Given the description of an element on the screen output the (x, y) to click on. 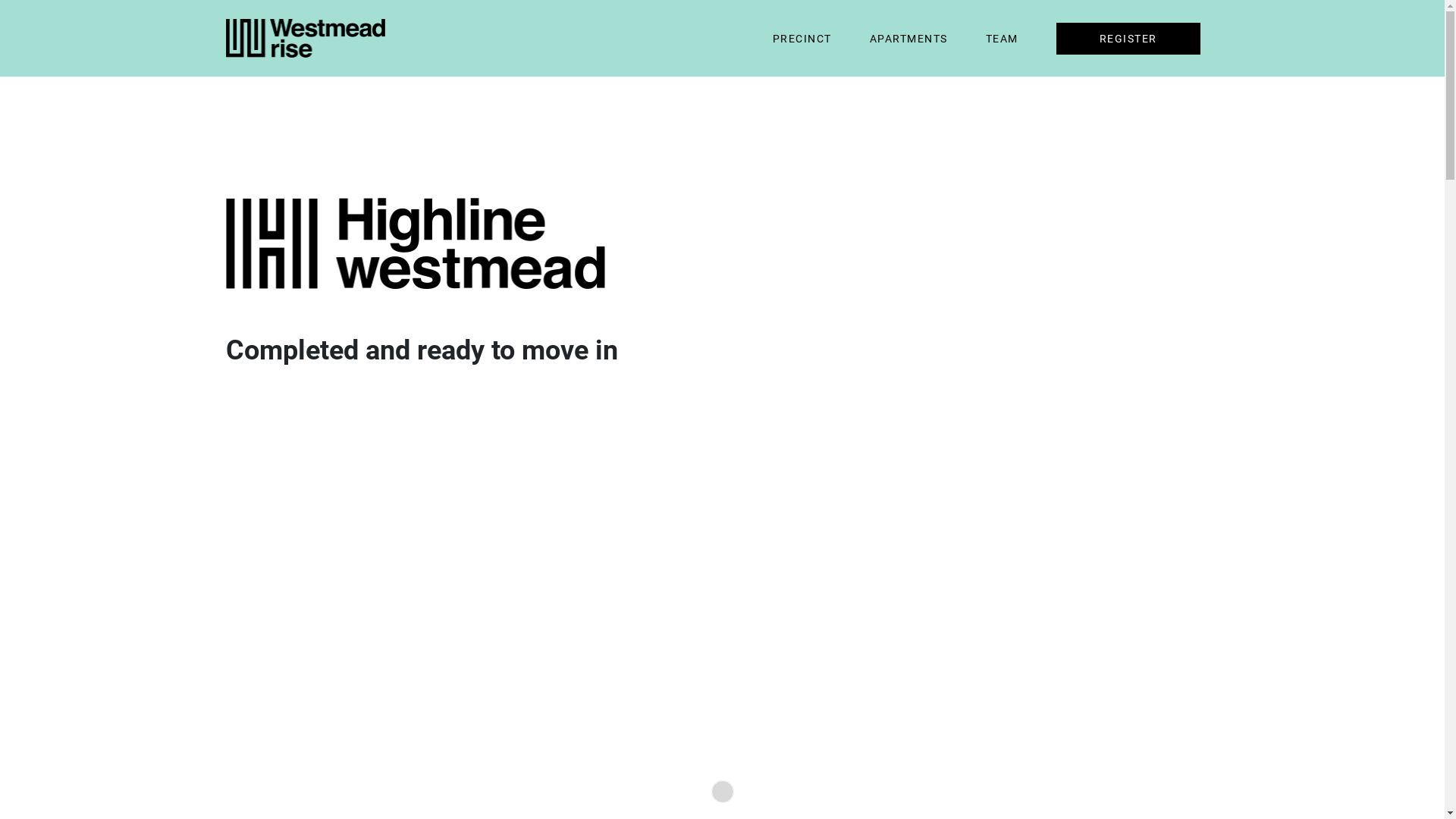
PRECINCT Element type: text (801, 38)
REGISTER Element type: text (1127, 38)
APARTMENTS Element type: text (908, 38)
TEAM Element type: text (1001, 38)
